Given the description of an element on the screen output the (x, y) to click on. 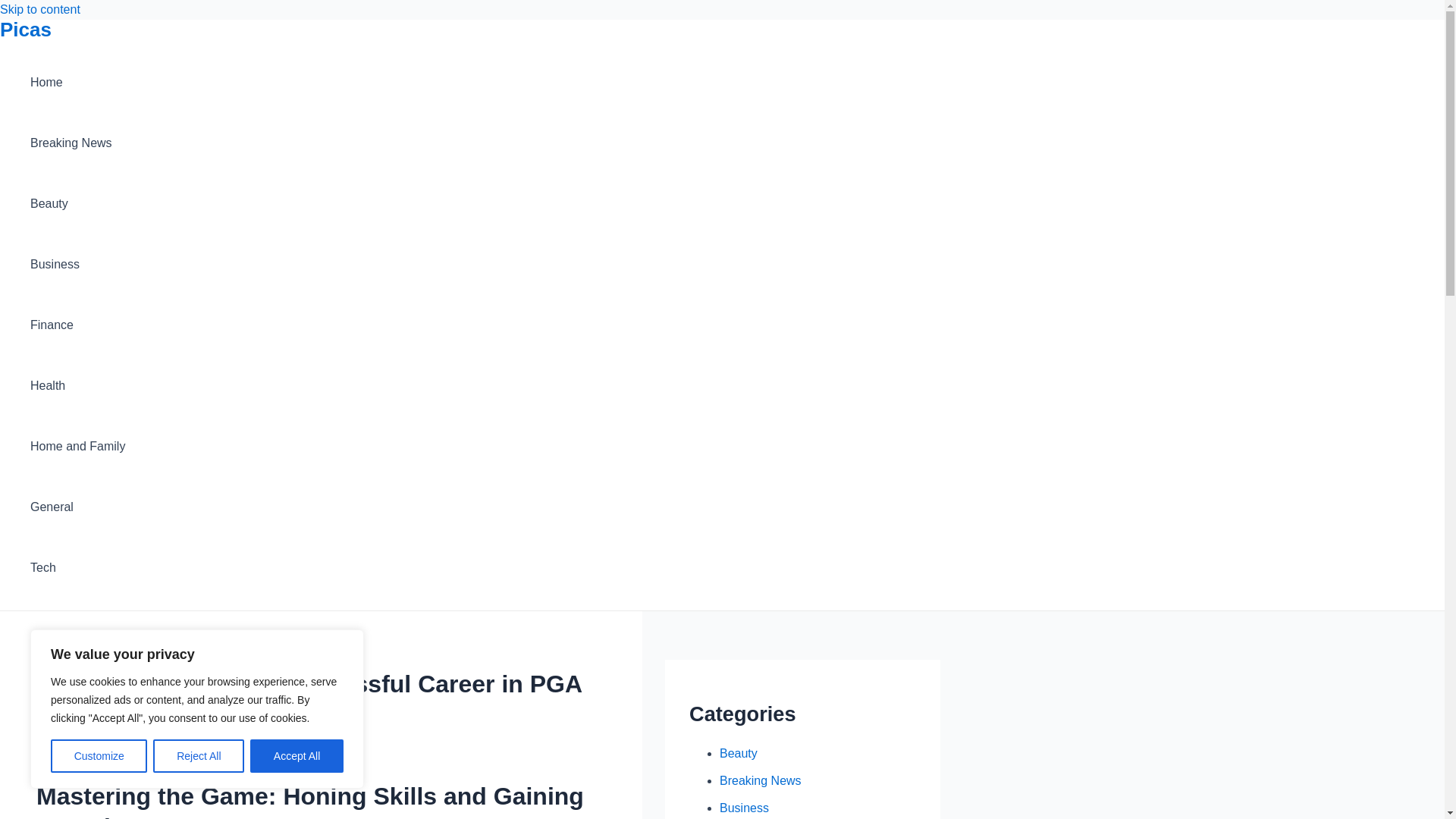
Home and Family (77, 446)
Beauty (738, 753)
Customize (98, 756)
General (77, 506)
Health (77, 385)
Business (743, 807)
Breaking News (760, 780)
Picas (25, 29)
Breaking News (77, 143)
Home (77, 82)
